Given the description of an element on the screen output the (x, y) to click on. 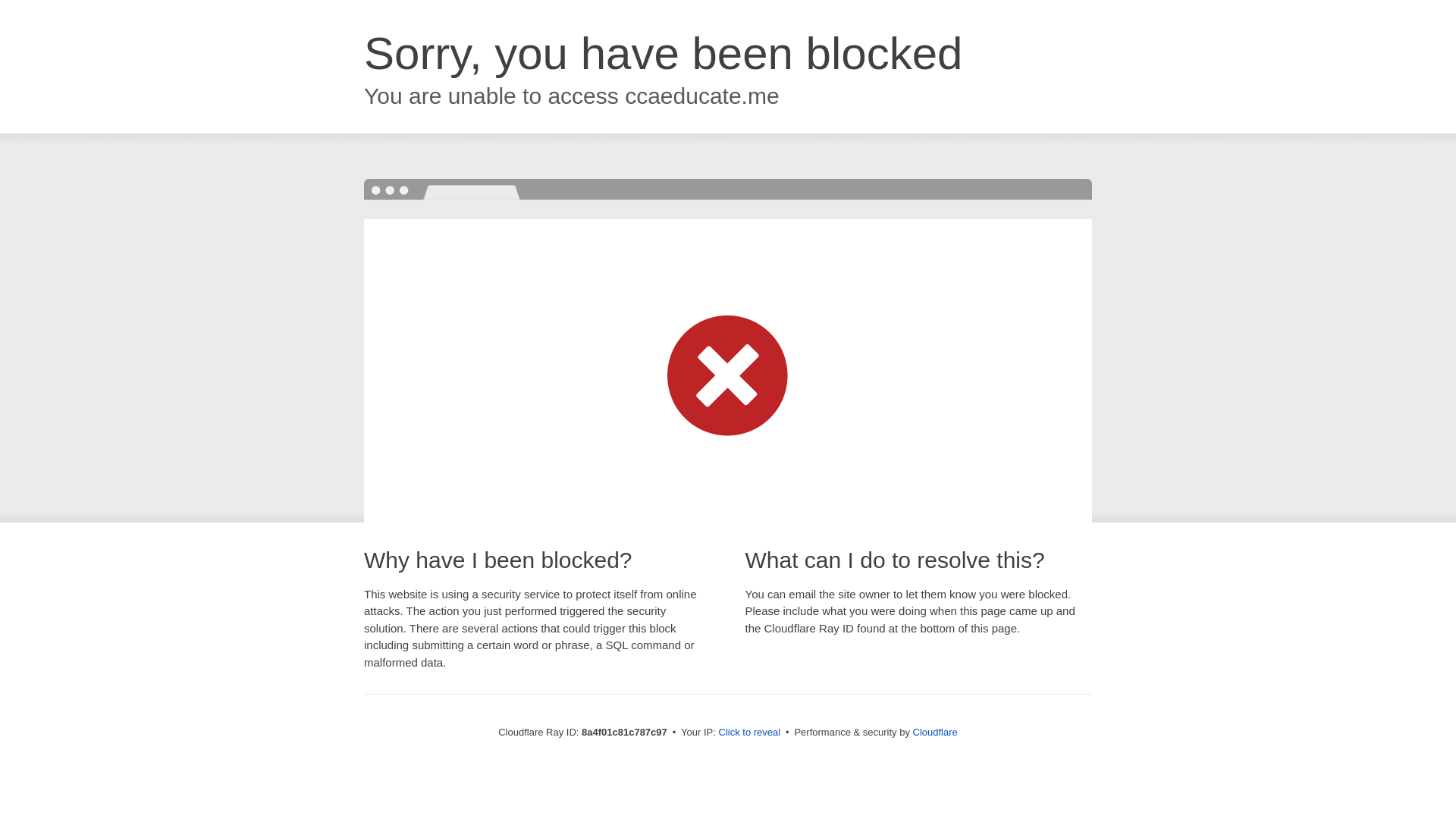
Cloudflare (935, 731)
Click to reveal (749, 732)
